Given the description of an element on the screen output the (x, y) to click on. 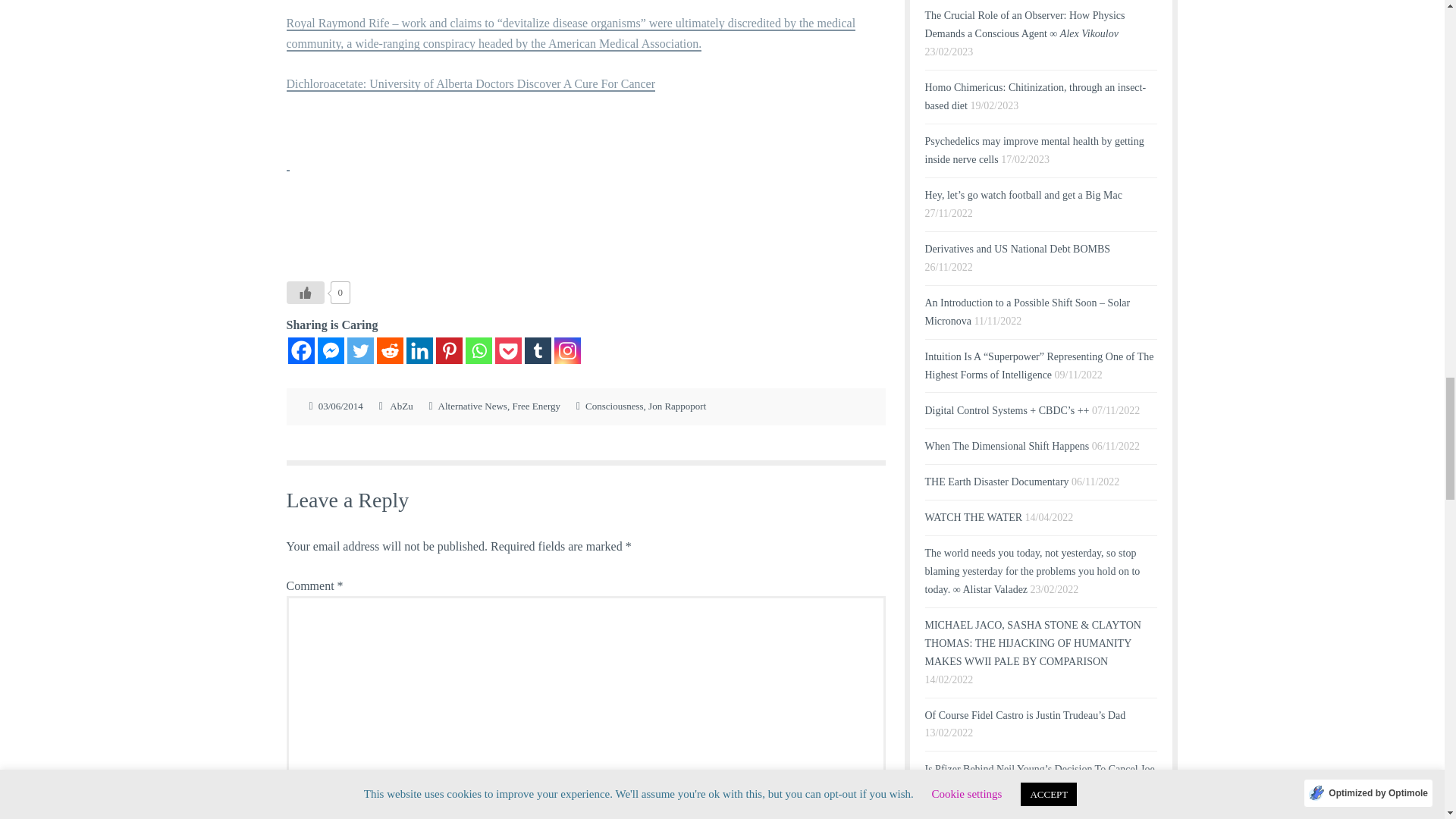
Alternative News (472, 406)
Instagram (566, 350)
Pocket (508, 350)
AbZu (401, 406)
Linkedin (419, 350)
Facebook (301, 350)
Whatsapp (478, 350)
Pinterest (448, 350)
Reddit (389, 350)
Jon Rappoport (676, 406)
